Given the description of an element on the screen output the (x, y) to click on. 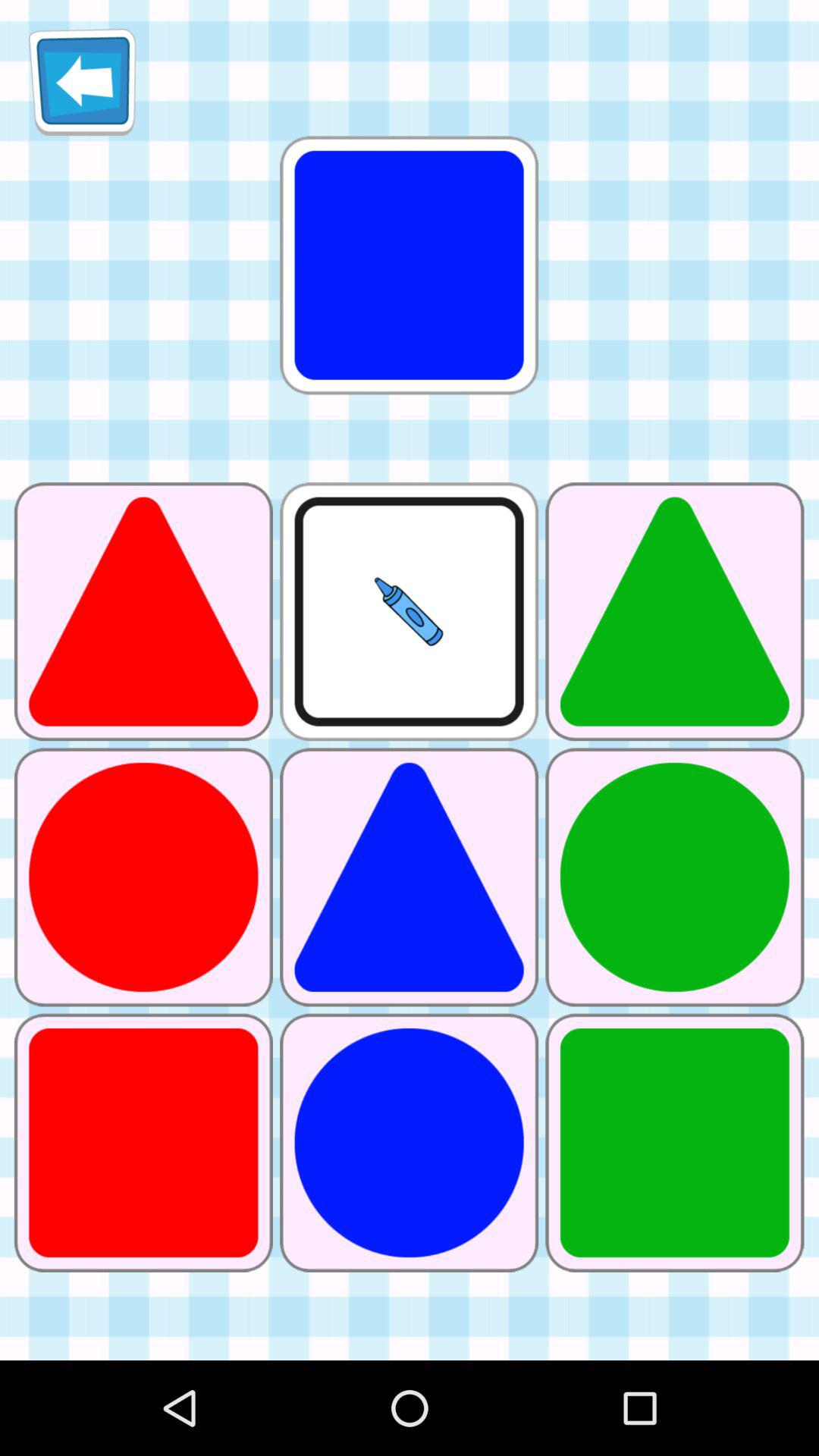
go back (82, 82)
